Given the description of an element on the screen output the (x, y) to click on. 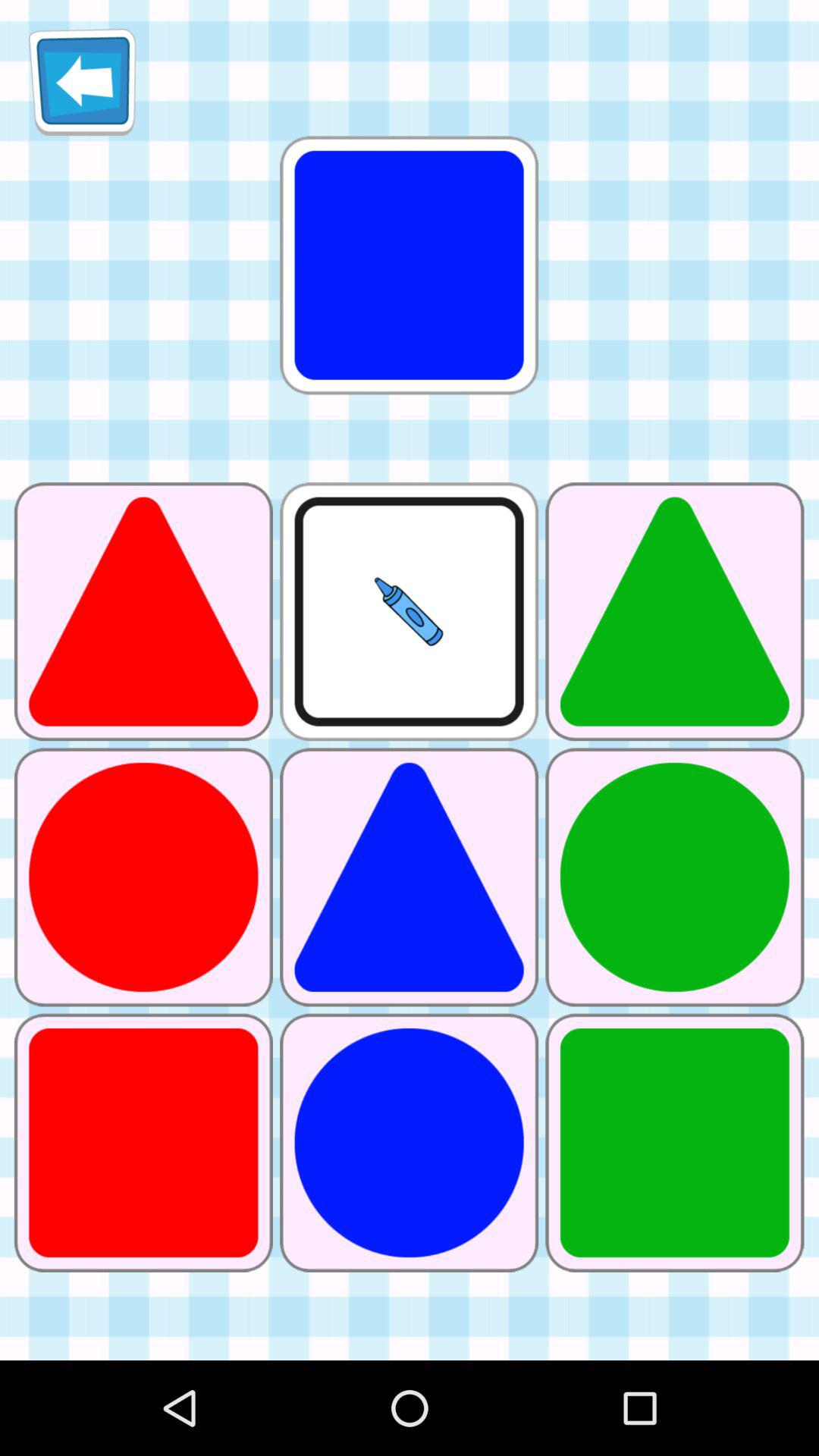
go back (82, 82)
